Given the description of an element on the screen output the (x, y) to click on. 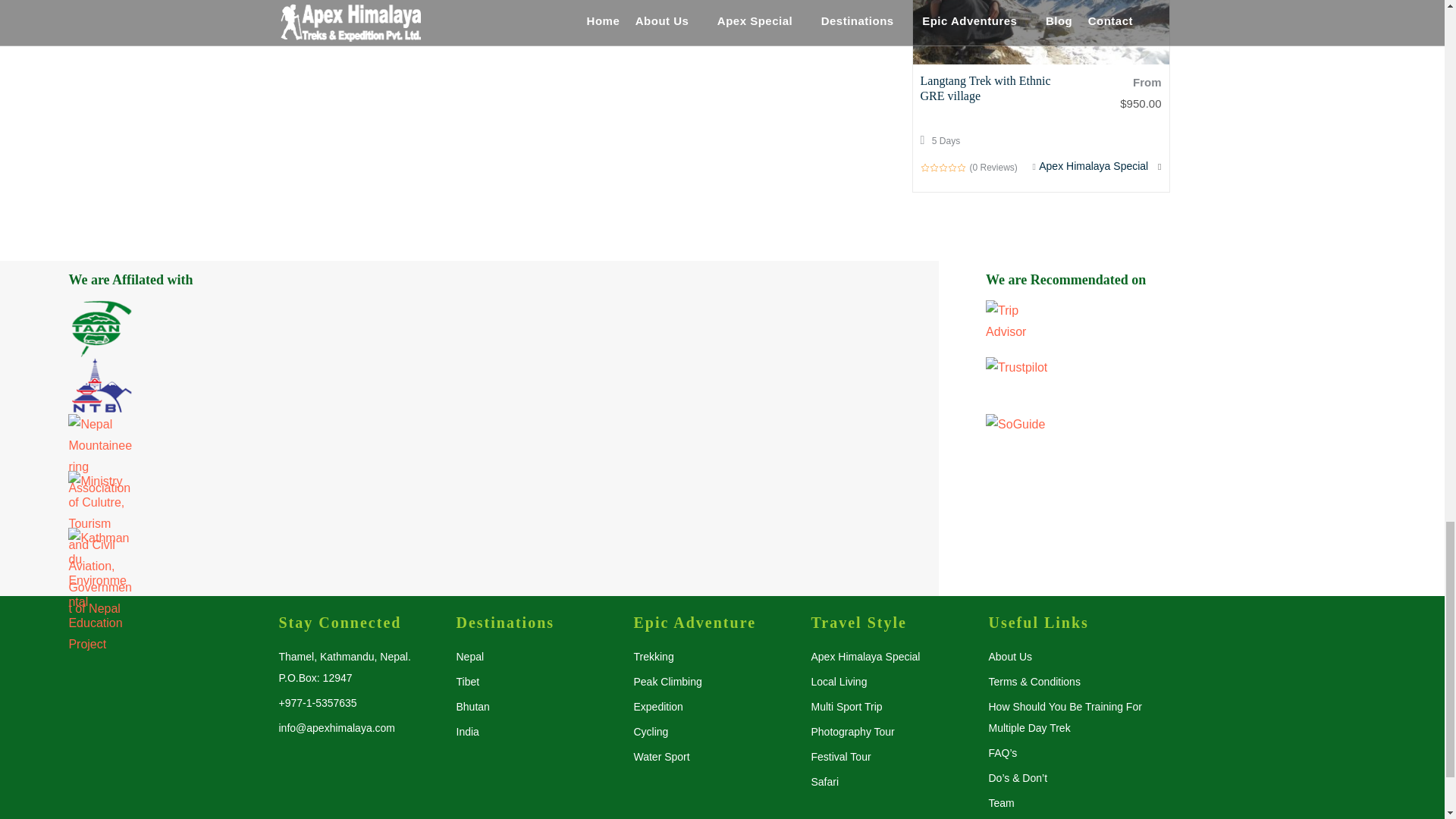
Trekking Agencies Associations of Nepal (468, 328)
Trip Advisor (1191, 328)
Nepal Tourism Board (100, 385)
Trustpilot (1191, 385)
Rated 0 out of 5 (943, 166)
Permalink to: Langtang Trek with Ethnic GRE village (985, 88)
Trip Advisor (1017, 321)
Nepal Tourism Board (468, 385)
Nepal Mountaineering Association (468, 442)
